Given the description of an element on the screen output the (x, y) to click on. 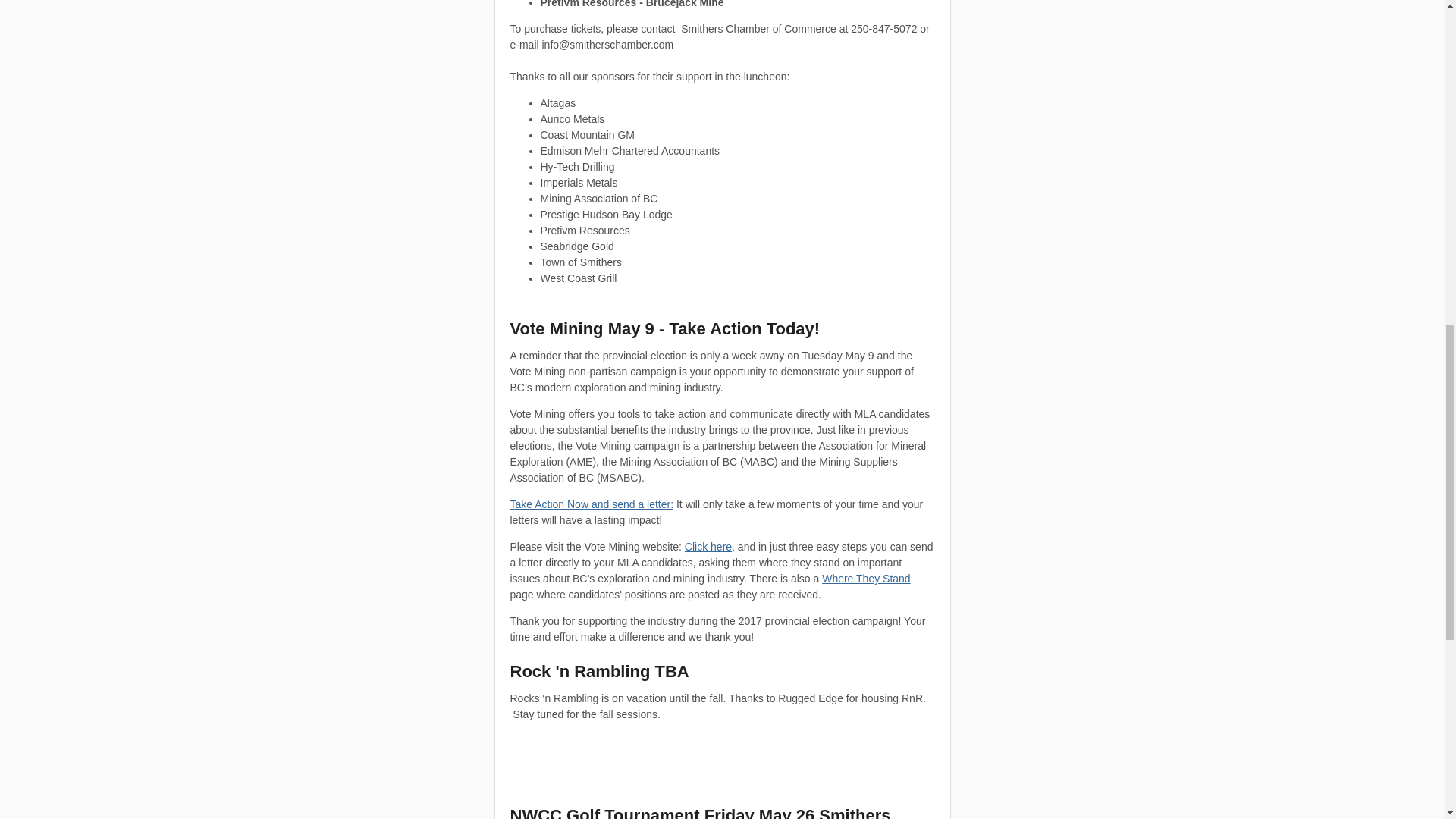
Click here (708, 546)
Take Action Now and send a letter: (590, 503)
Where They Stand (866, 578)
